Given the description of an element on the screen output the (x, y) to click on. 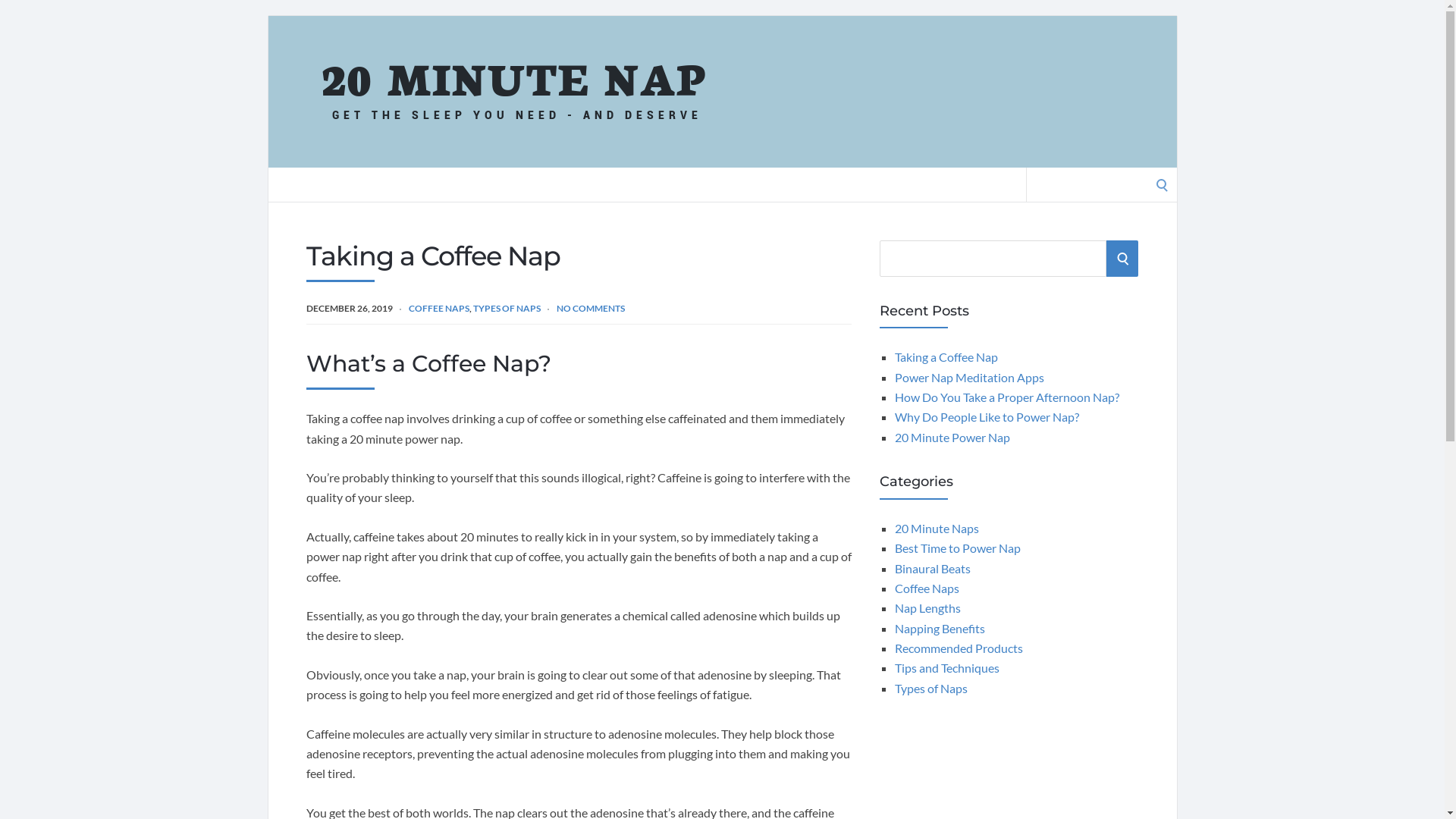
TYPES OF NAPS Element type: text (506, 307)
Recommended Products Element type: text (958, 647)
NO COMMENTS Element type: text (590, 307)
COFFEE NAPS Element type: text (437, 307)
Coffee Naps Element type: text (926, 587)
Nap Lengths Element type: text (927, 607)
Search Element type: text (16, 17)
Types of Naps Element type: text (930, 687)
Napping Benefits Element type: text (939, 628)
Why Do People Like to Power Nap? Element type: text (986, 416)
Best Time to Power Nap Element type: text (957, 547)
SEARCH Element type: text (1122, 258)
20 Minute Power Nap Element type: text (952, 436)
How Do You Take a Proper Afternoon Nap? Element type: text (1006, 396)
Power Nap Meditation Apps Element type: text (969, 377)
Binaural Beats Element type: text (932, 568)
Taking a Coffee Nap Element type: text (945, 356)
20 Minute Naps Element type: text (936, 527)
Tips and Techniques Element type: text (946, 667)
